Given the description of an element on the screen output the (x, y) to click on. 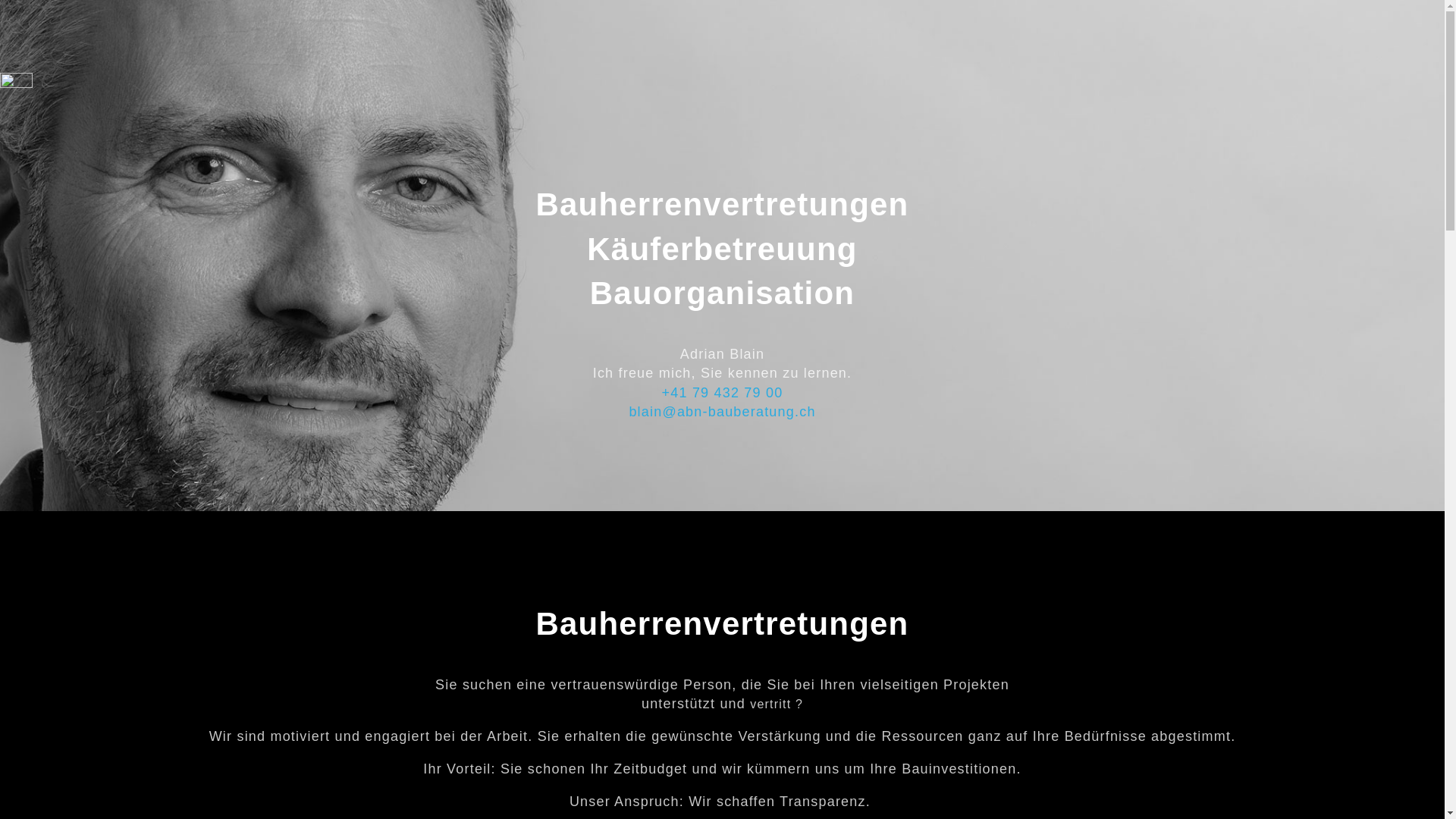
+41 79 432 79 00 Element type: text (722, 392)
blain@abn-bauberatung.ch Element type: text (721, 411)
